Given the description of an element on the screen output the (x, y) to click on. 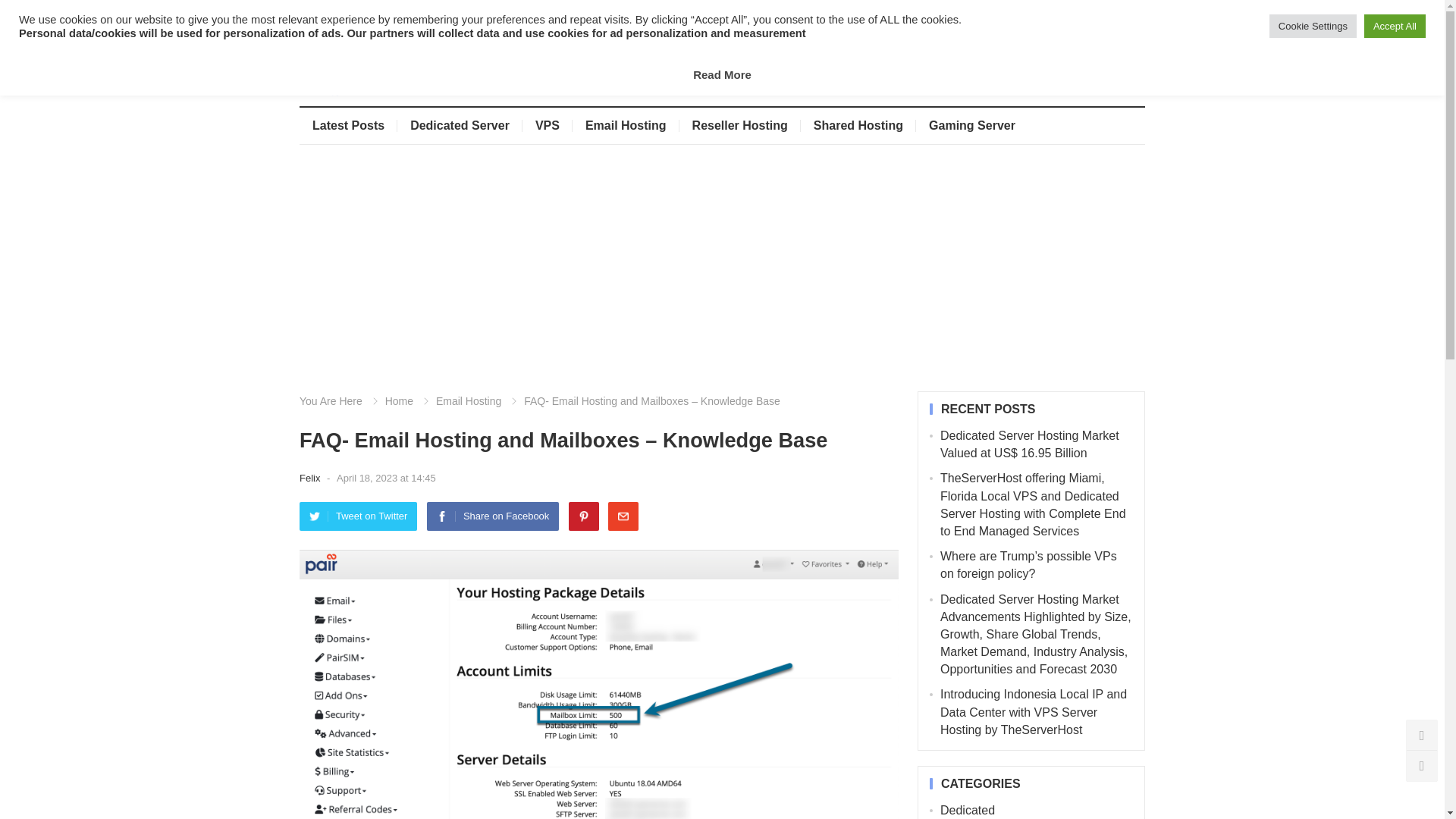
Tweet on Twitter (357, 516)
Home (389, 400)
Pinterest (583, 516)
Contact Us (477, 14)
Share on Facebook (492, 516)
VPS (547, 125)
Email Hosting (458, 400)
Home (324, 14)
View all posts in Email Hosting (458, 400)
Dedicated Server (459, 125)
Become a fan (1100, 68)
Email Hosting (625, 125)
Reseller Hosting (739, 125)
Shared Hosting (857, 125)
